Given the description of an element on the screen output the (x, y) to click on. 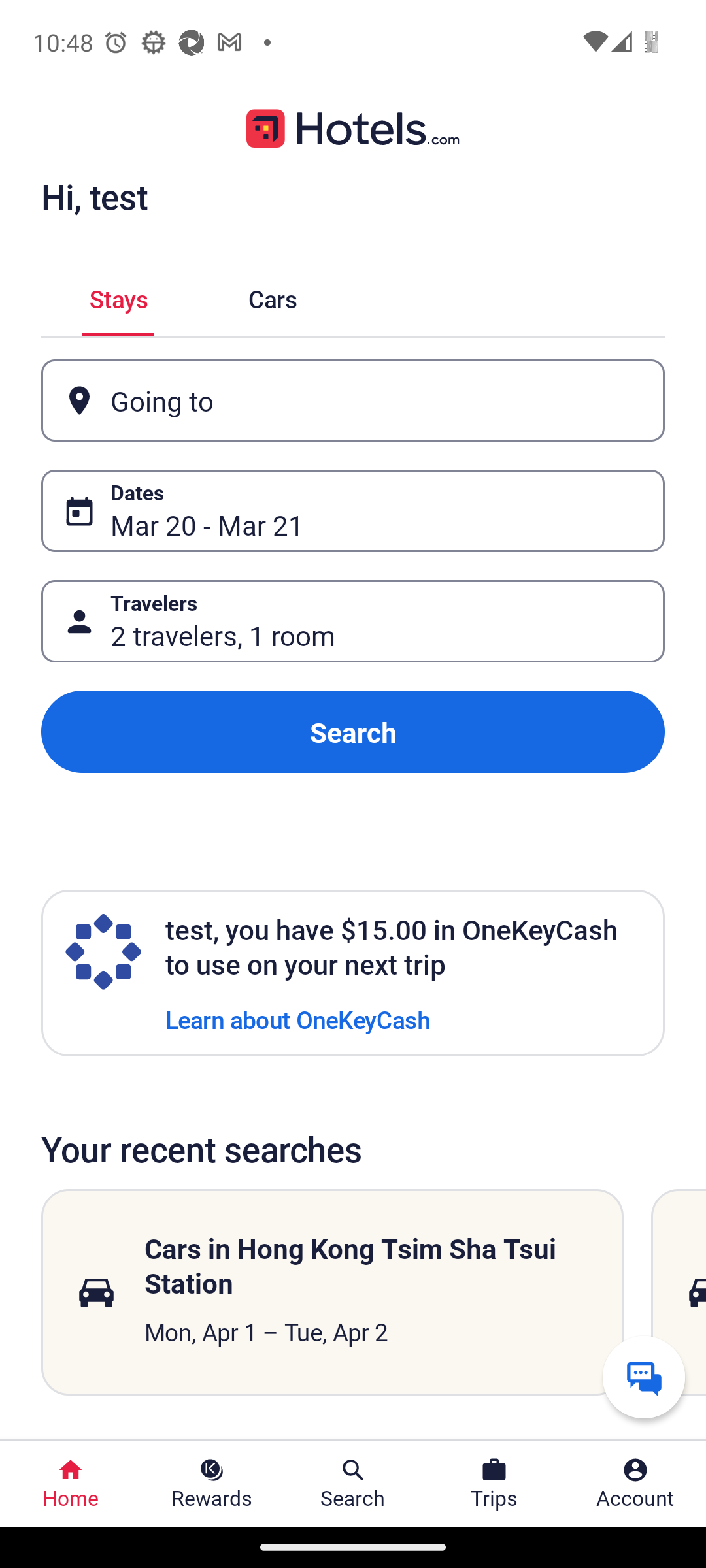
Hi, test (93, 196)
Cars (272, 297)
Going to Button (352, 400)
Dates Button Mar 20 - Mar 21 (352, 510)
Travelers Button 2 travelers, 1 room (352, 620)
Search (352, 731)
Learn about OneKeyCash Learn about OneKeyCash Link (297, 1019)
Get help from a virtual agent (643, 1377)
Rewards Rewards Button (211, 1483)
Search Search Button (352, 1483)
Trips Trips Button (493, 1483)
Account Profile. Button (635, 1483)
